Given the description of an element on the screen output the (x, y) to click on. 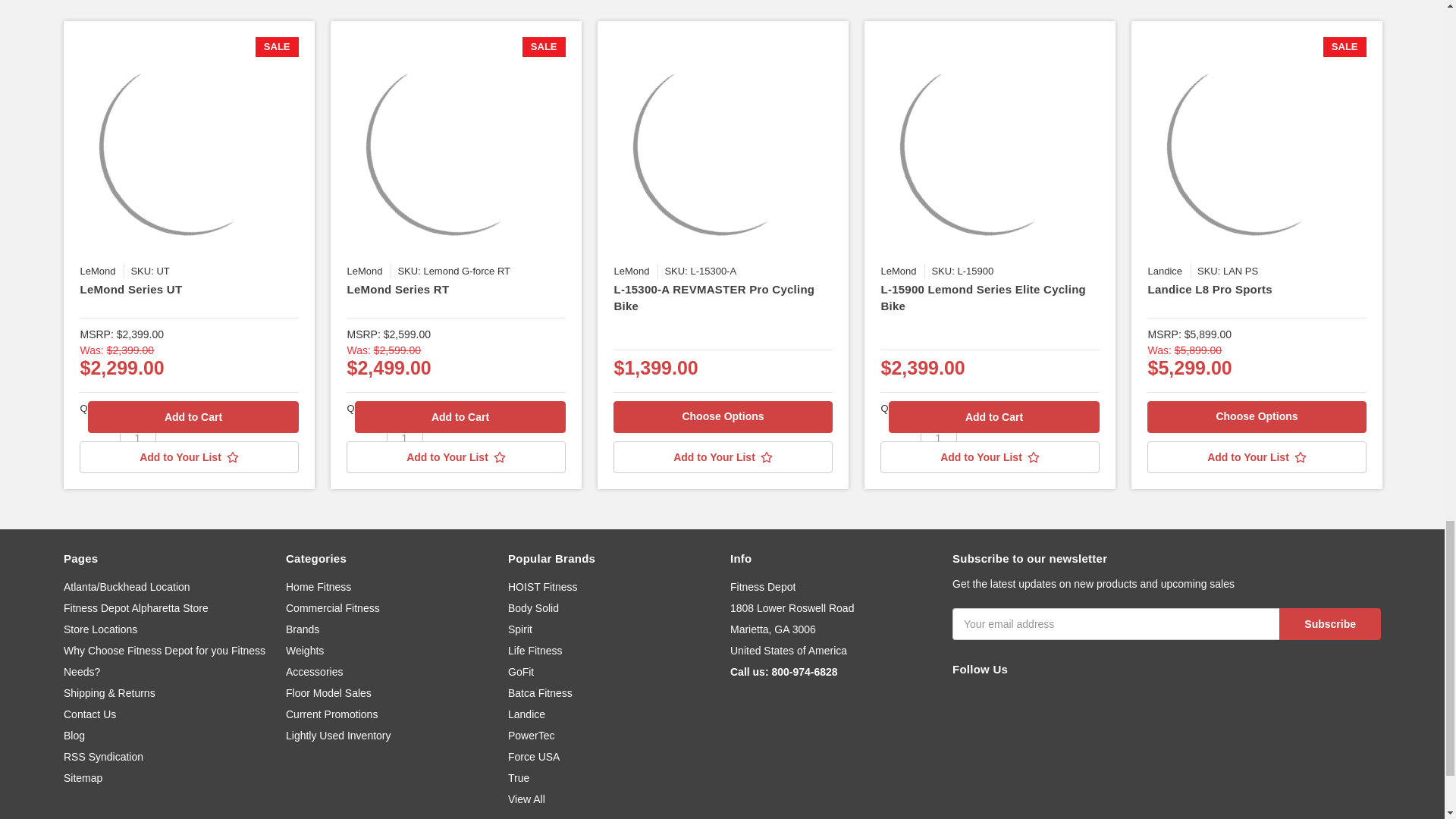
Add to Cart (459, 417)
Add to Cart (993, 417)
Add to Your List (721, 457)
1 (938, 438)
L-15300-A REVMASTER Pro Cycling Bike (721, 145)
Add to Your List (455, 457)
Add to Cart (192, 417)
1 (137, 438)
Landice L8 Pro Sports (1256, 145)
Add to Your List (189, 457)
